Given the description of an element on the screen output the (x, y) to click on. 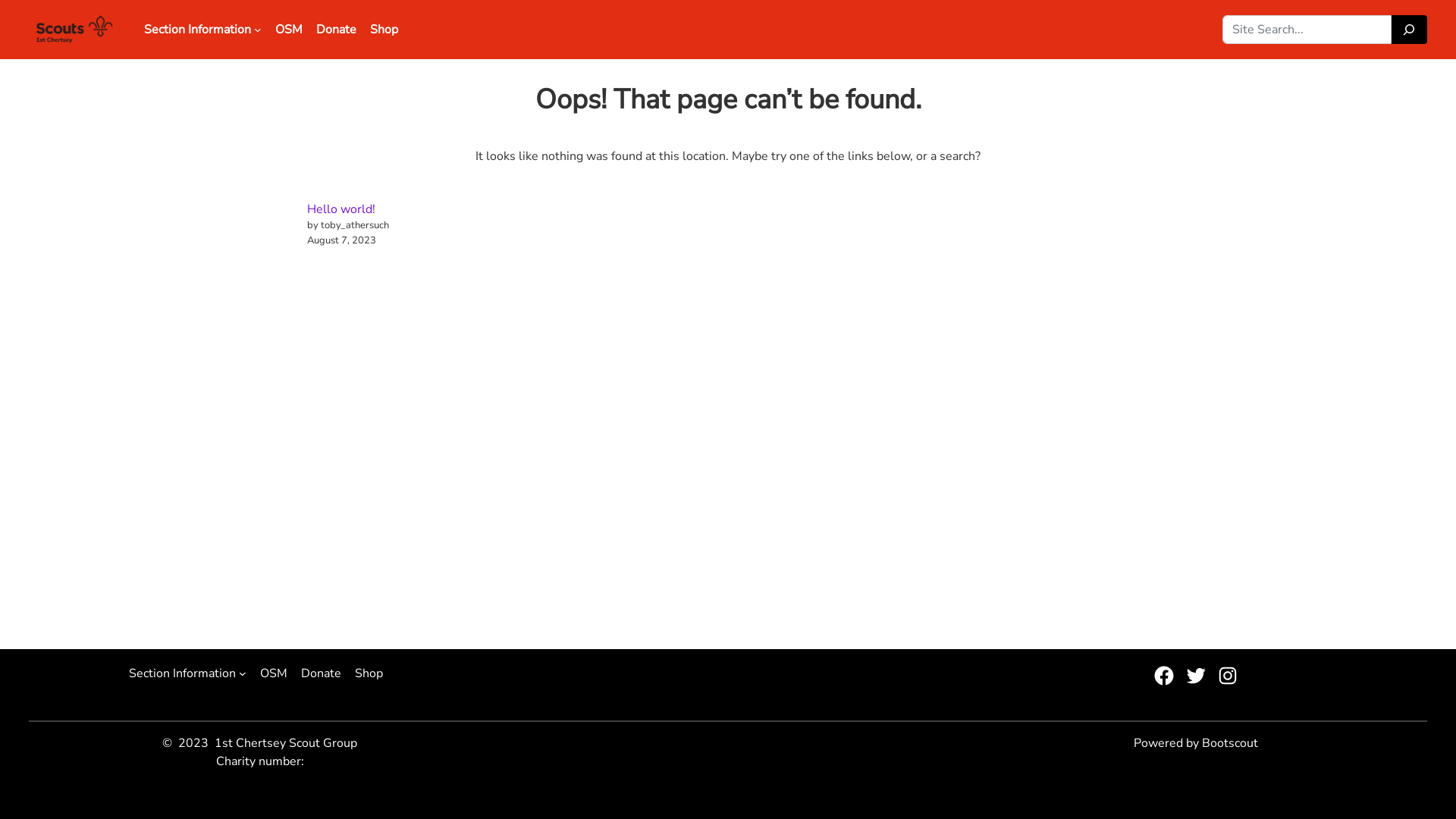
OSM Element type: text (288, 29)
Twitter Element type: text (1195, 675)
Section Information Element type: text (181, 673)
Facebook Element type: text (1163, 675)
Shop Element type: text (384, 29)
Donate Element type: text (321, 673)
Donate Element type: text (336, 29)
Shop Element type: text (368, 673)
Hello world! Element type: text (341, 208)
Instagram Element type: text (1227, 675)
Powered by Bootscout Element type: text (1195, 742)
1st Chertsey Scout Group Element type: text (285, 742)
OSM Element type: text (273, 673)
Section Information Element type: text (197, 29)
